Given the description of an element on the screen output the (x, y) to click on. 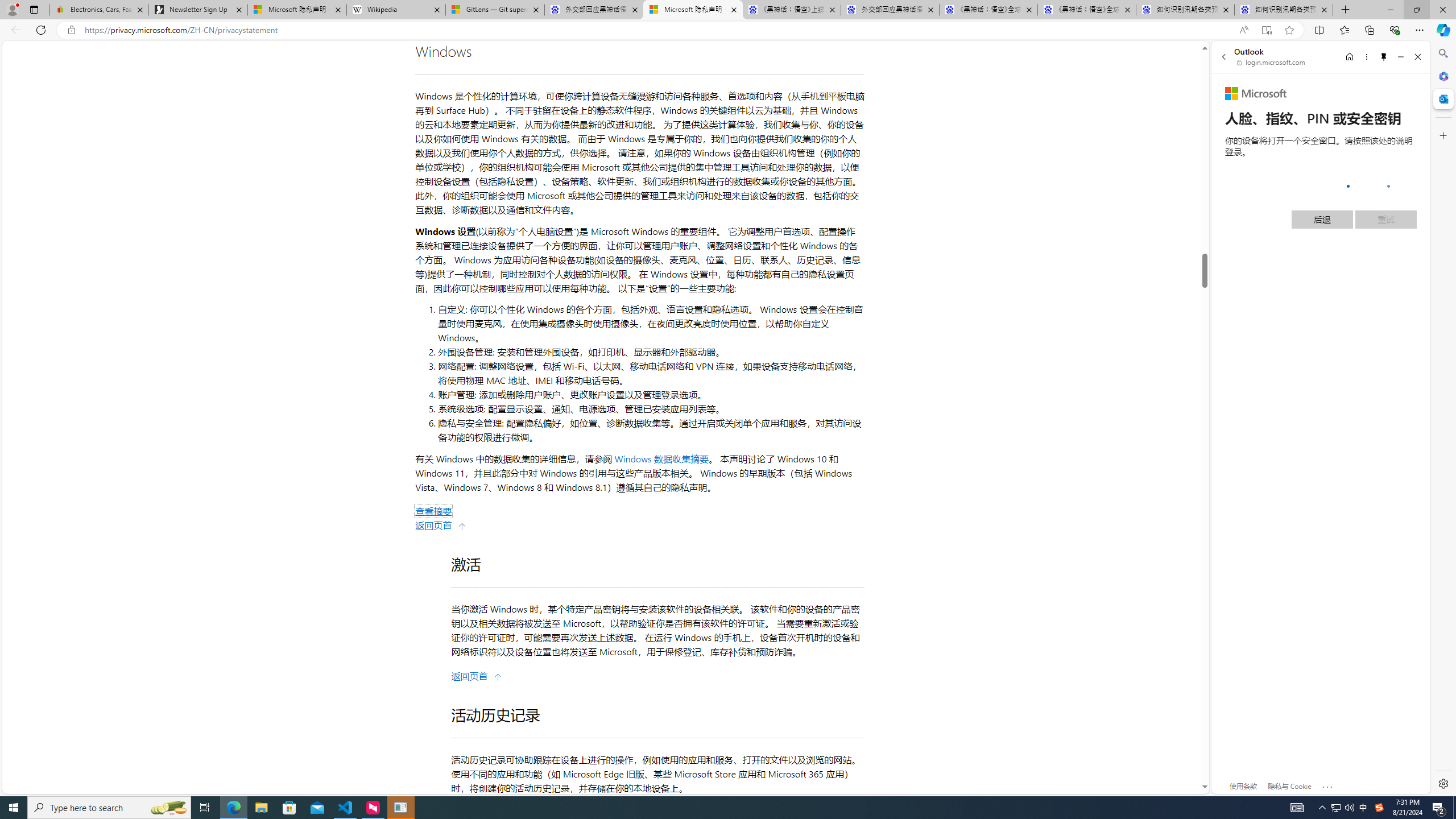
Newsletter Sign Up (197, 9)
